Given the description of an element on the screen output the (x, y) to click on. 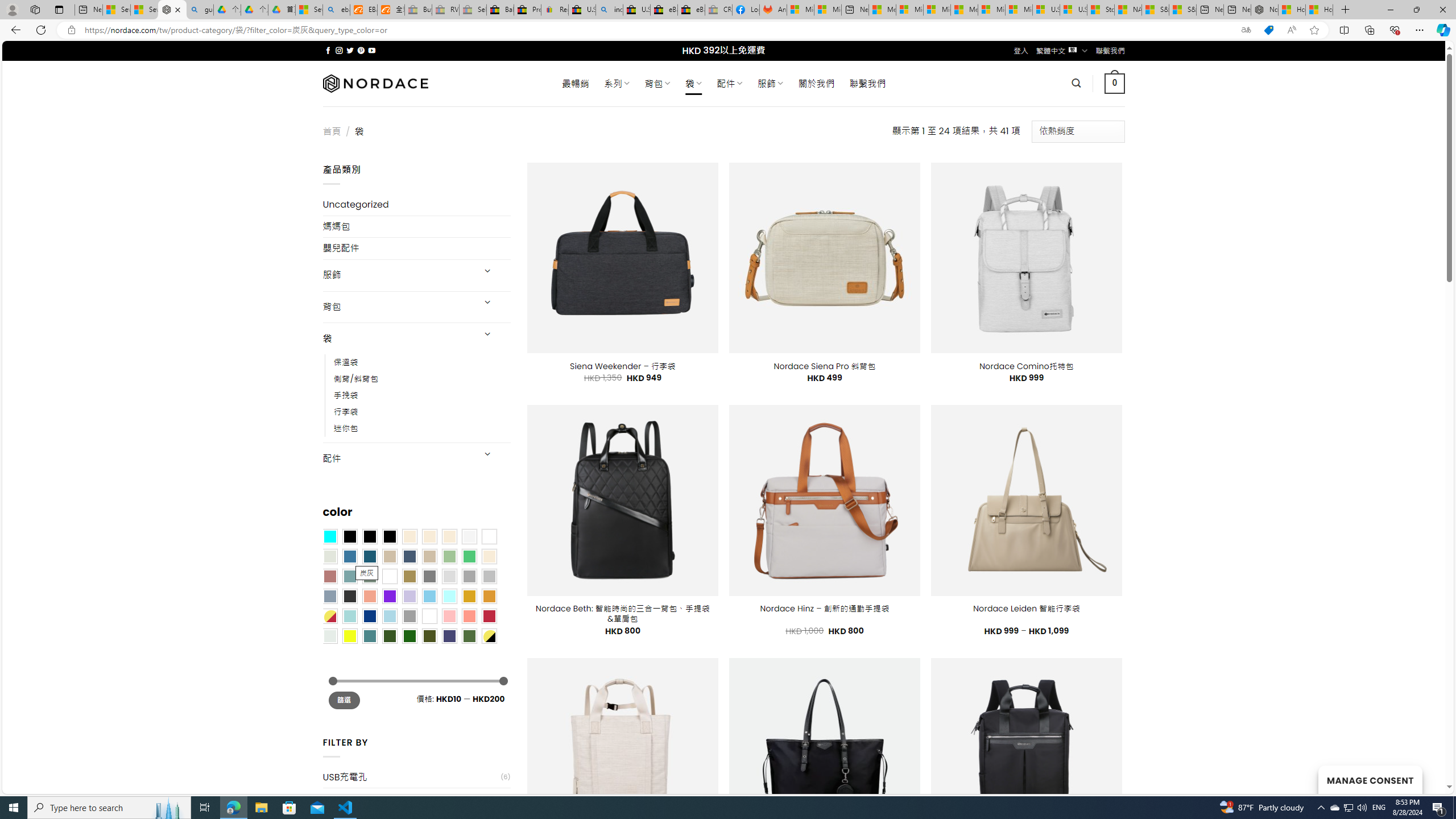
  0   (1115, 83)
Follow on Pinterest (360, 50)
Follow on Twitter (349, 50)
